Given the description of an element on the screen output the (x, y) to click on. 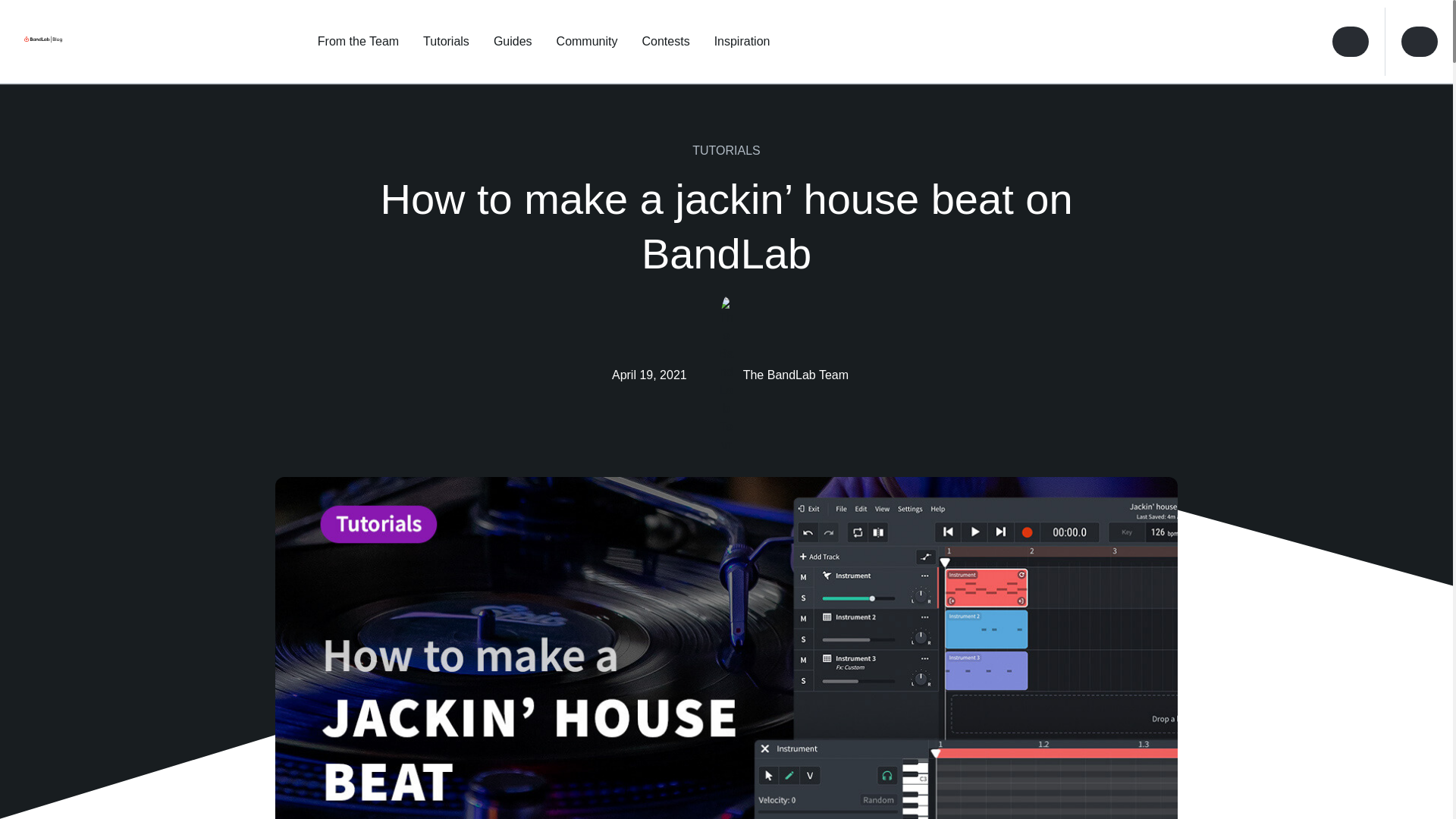
Guides (512, 41)
Community (586, 41)
Inspiration (742, 41)
Contests (665, 41)
Tutorials (445, 41)
From the Team (357, 41)
